Given the description of an element on the screen output the (x, y) to click on. 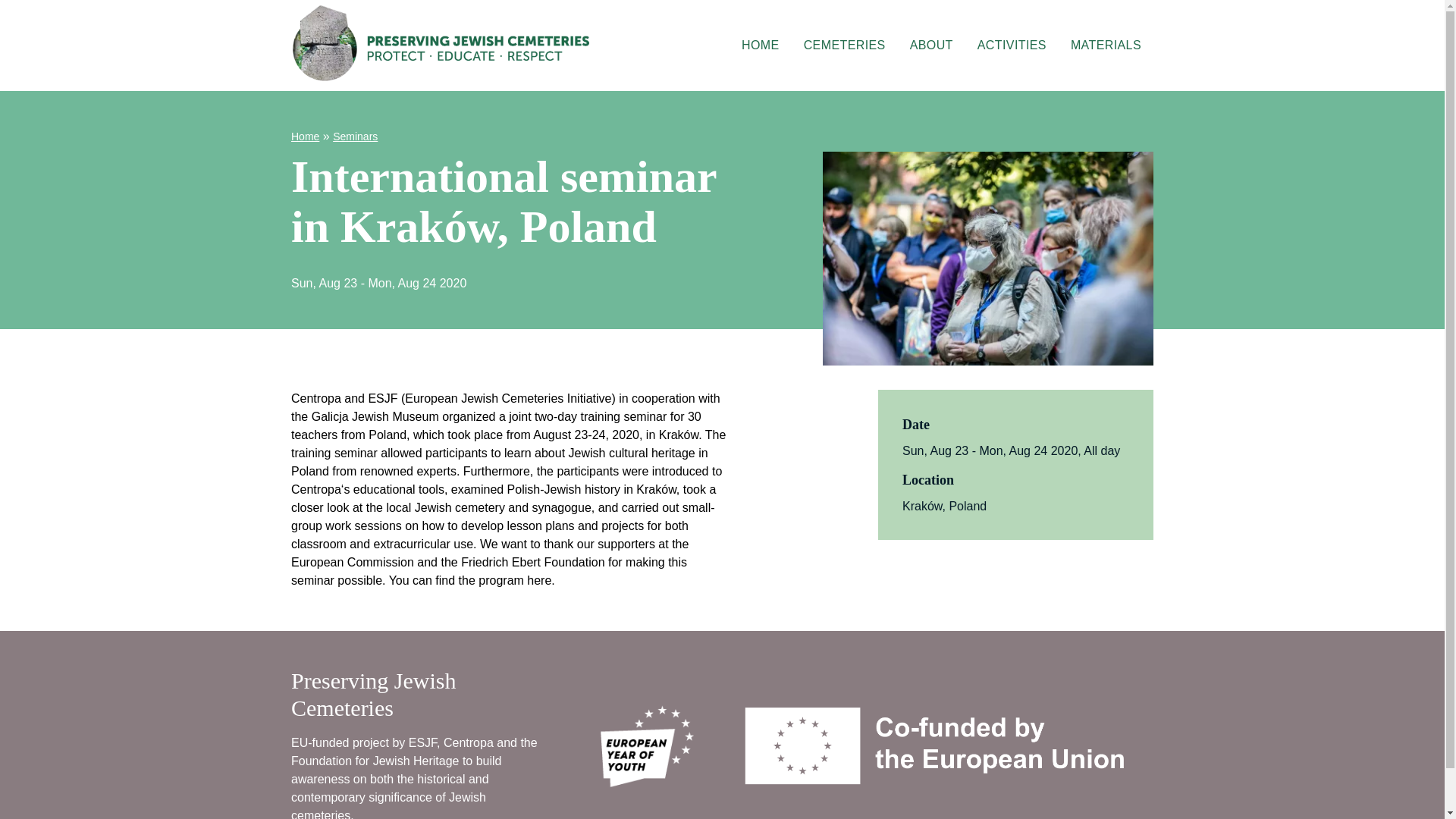
MATERIALS (1105, 45)
HOME (760, 45)
Home (935, 45)
ACTIVITIES (304, 136)
Skip to main content (1011, 45)
Seminars (931, 45)
CEMETERIES (355, 136)
